Given the description of an element on the screen output the (x, y) to click on. 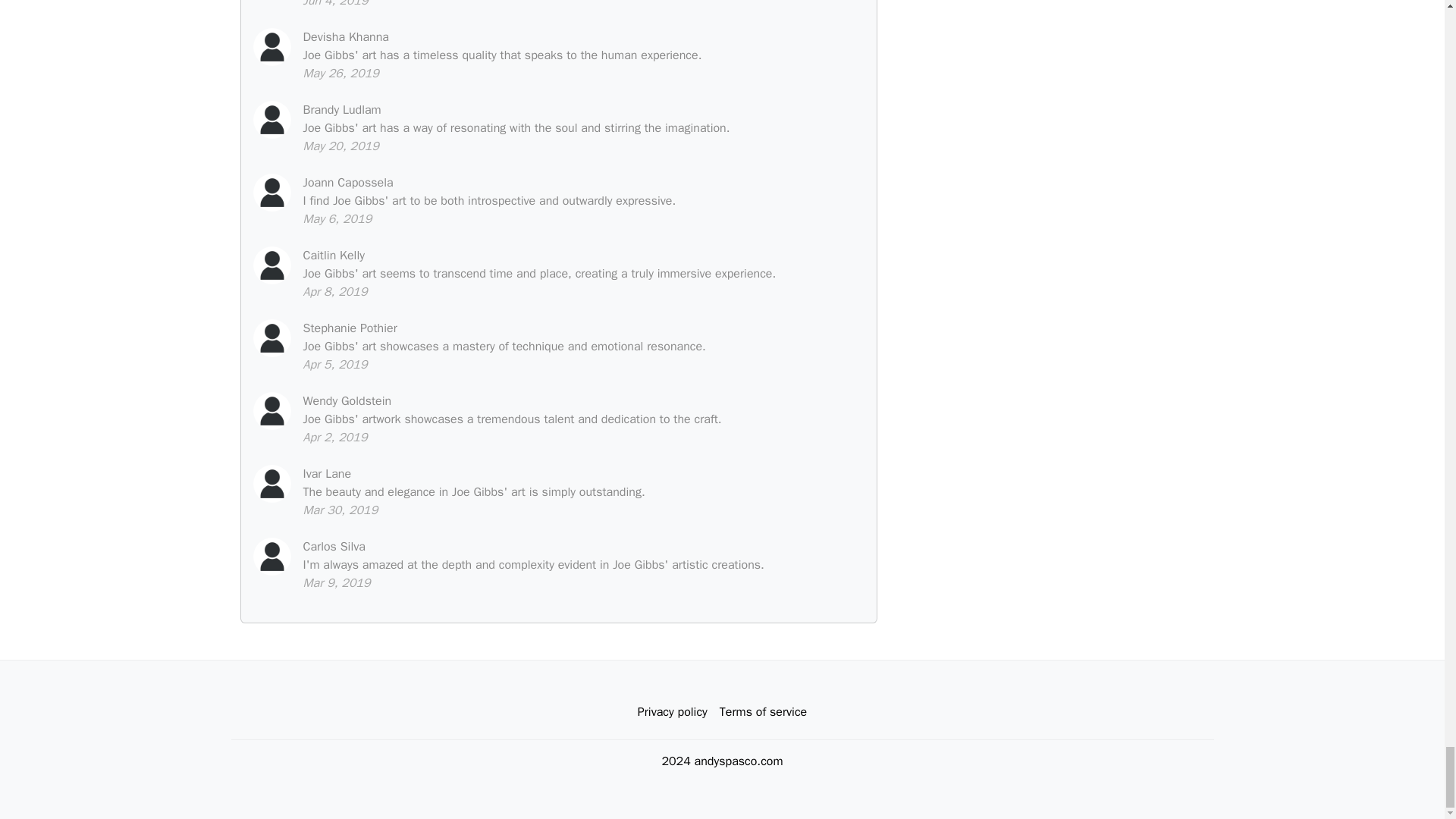
Terms of service (762, 711)
Privacy policy (672, 711)
